Given the description of an element on the screen output the (x, y) to click on. 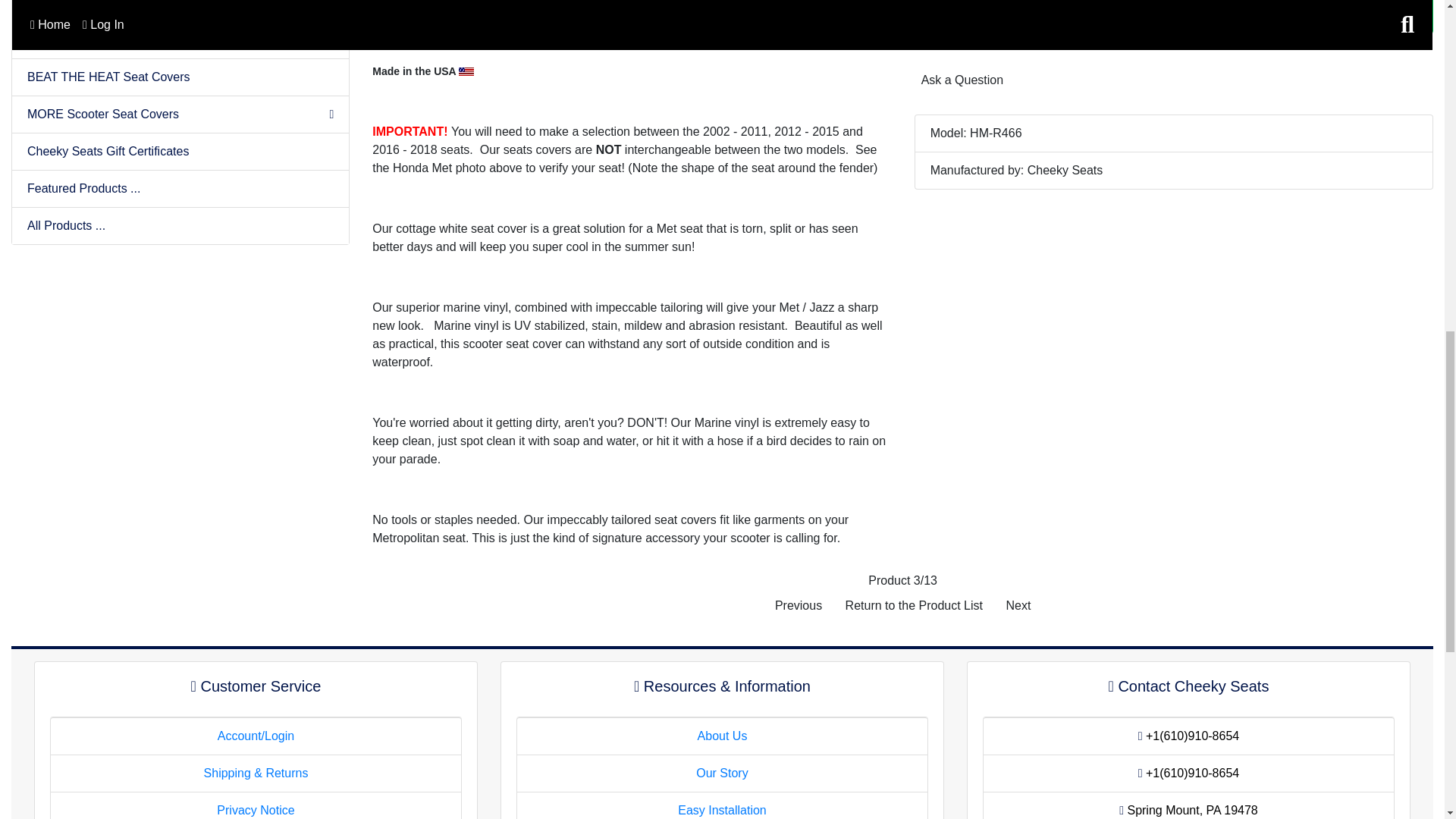
Easy Installation (722, 809)
About Us (722, 735)
Privacy Notice (255, 809)
Our Story (721, 772)
